Given the description of an element on the screen output the (x, y) to click on. 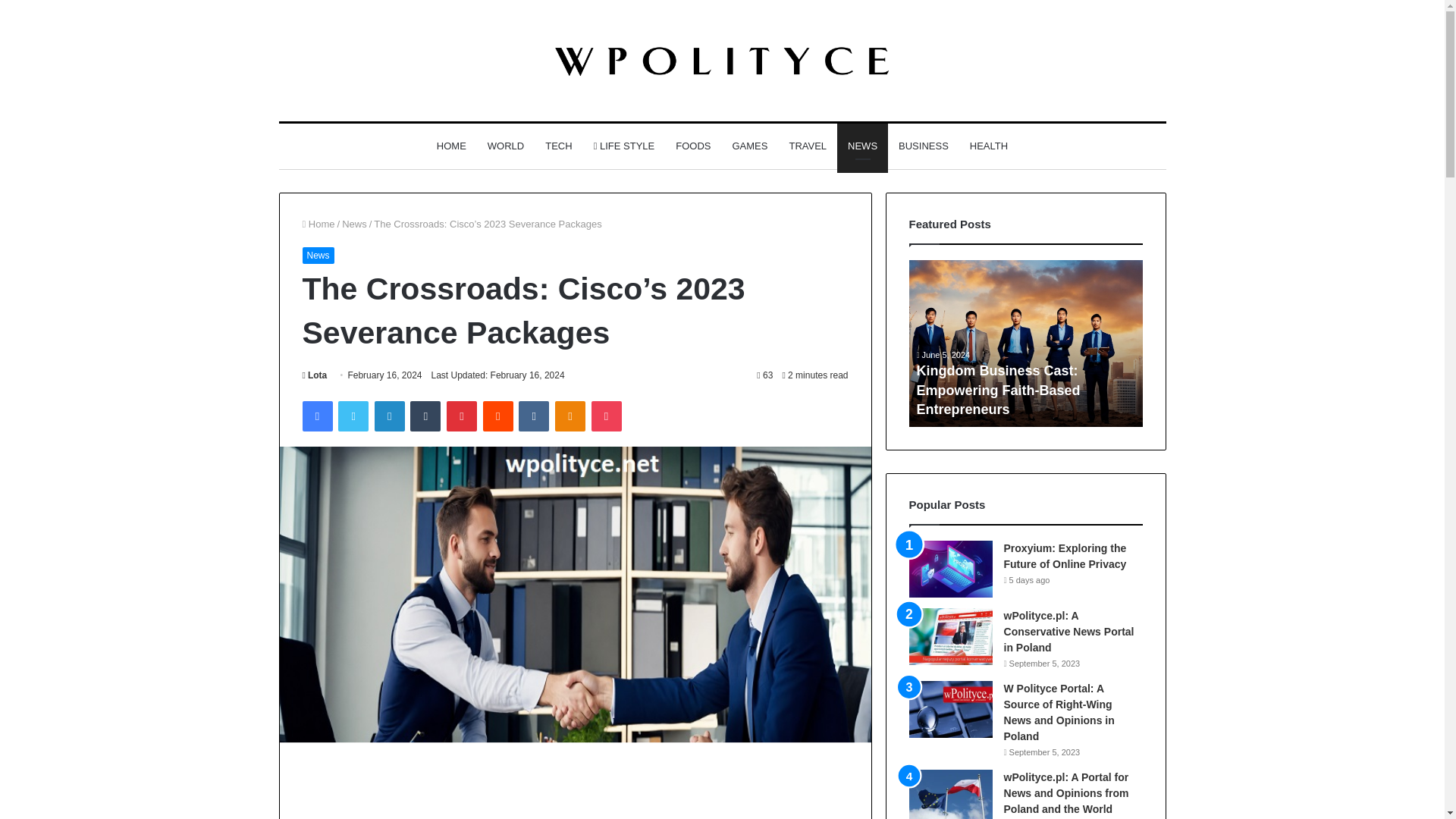
HOME (451, 145)
Tumblr (425, 416)
Facebook (316, 416)
Reddit (498, 416)
LIFE STYLE (624, 145)
VKontakte (533, 416)
Lota (313, 375)
Reddit (498, 416)
TECH (558, 145)
GAMES (748, 145)
